Given the description of an element on the screen output the (x, y) to click on. 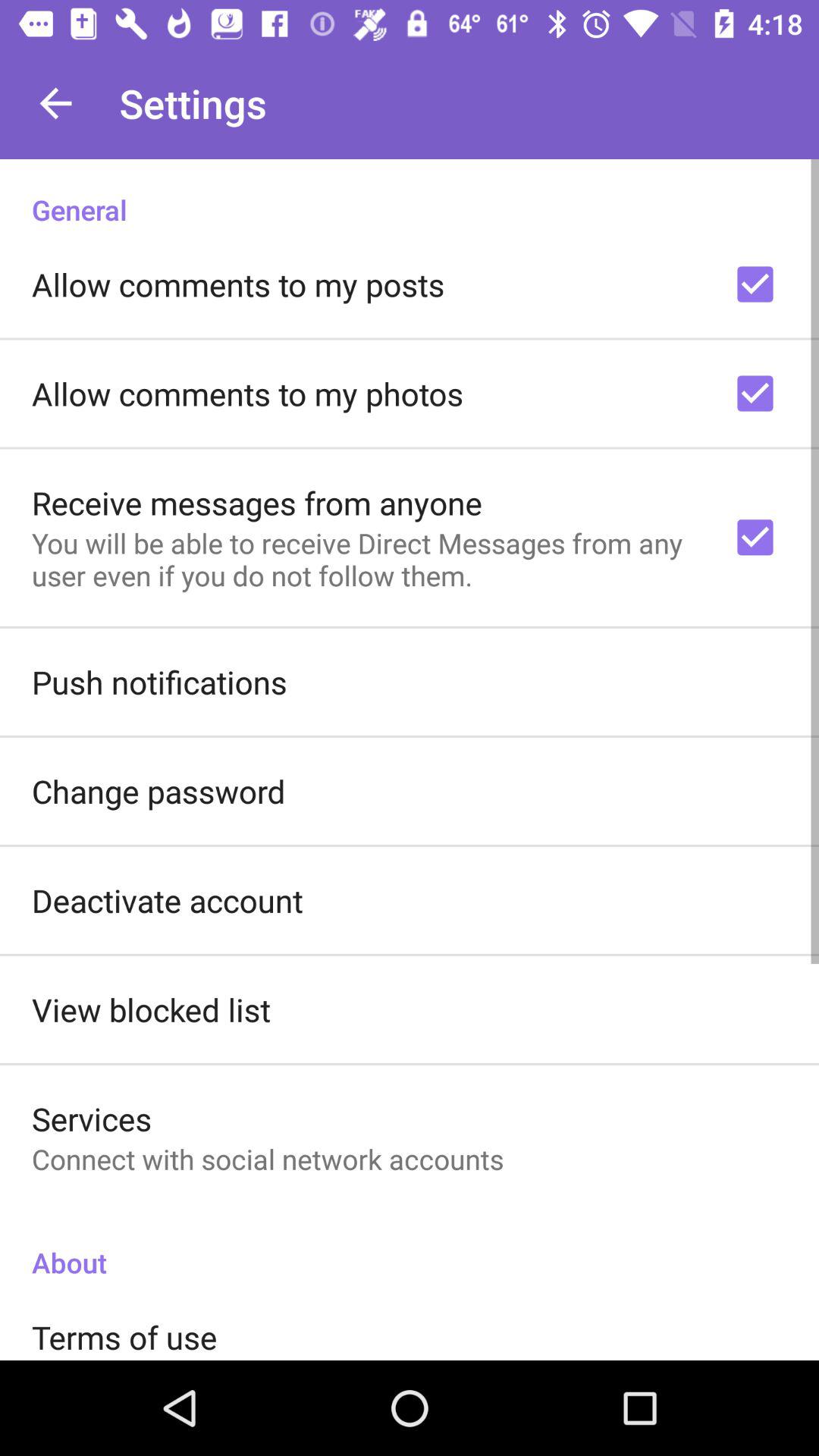
click the item next to the settings icon (55, 103)
